Given the description of an element on the screen output the (x, y) to click on. 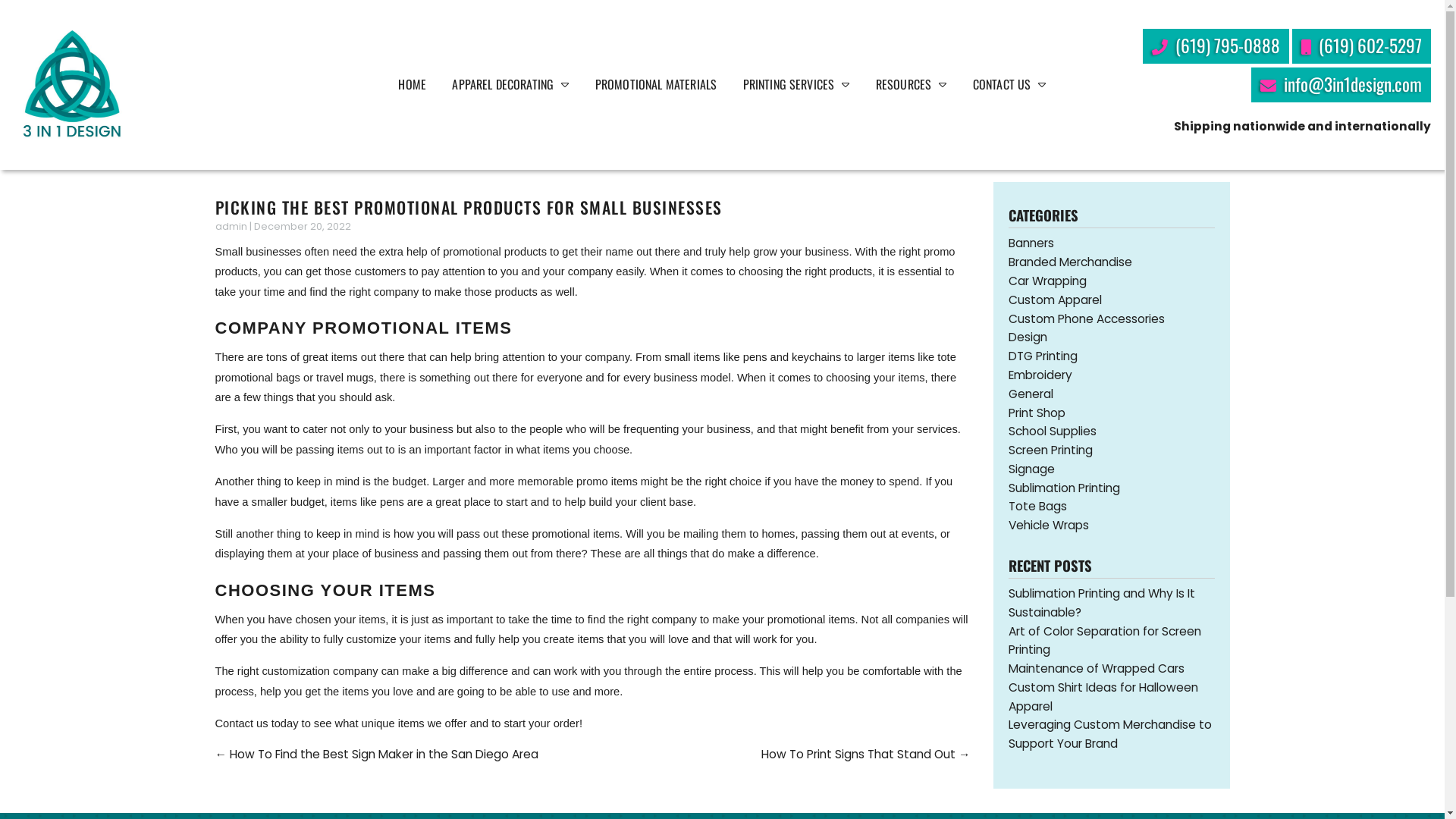
Car Wrapping Element type: text (1047, 280)
Screen Printing Element type: text (1050, 450)
Sublimation Printing and Why Is It Sustainable? Element type: text (1101, 602)
Leveraging Custom Merchandise to Support Your Brand Element type: text (1109, 733)
admin Element type: text (231, 226)
(619) 602-5297 Element type: text (1361, 45)
Custom Apparel Element type: text (1054, 299)
PRINTING SERVICES Element type: text (796, 84)
PICKING THE BEST PROMOTIONAL PRODUCTS FOR SMALL BUSINESSES Element type: text (468, 206)
Custom Phone Accessories Element type: text (1086, 318)
PROMOTIONAL MATERIALS Element type: text (655, 84)
Branded Merchandise Element type: text (1070, 261)
Design Element type: text (1027, 337)
Sublimation Printing Element type: text (1064, 487)
Tote Bags Element type: text (1037, 506)
Signage Element type: text (1031, 468)
DTG Printing Element type: text (1042, 356)
Vehicle Wraps Element type: text (1048, 525)
RESOURCES Element type: text (911, 84)
Art of Color Separation for Screen Printing Element type: text (1104, 640)
Print Shop Element type: text (1036, 412)
HOME Element type: text (412, 84)
Embroidery Element type: text (1040, 374)
General Element type: text (1030, 393)
Home Page Element type: hover (70, 84)
Banners Element type: text (1031, 243)
CONTACT US Element type: text (1009, 84)
School Supplies Element type: text (1052, 431)
APPAREL DECORATING Element type: text (509, 84)
info@3in1design.com Element type: text (1340, 84)
(619) 795-0888 Element type: text (1215, 45)
Maintenance of Wrapped Cars Element type: text (1096, 668)
Custom Shirt Ideas for Halloween Apparel Element type: text (1103, 696)
